Given the description of an element on the screen output the (x, y) to click on. 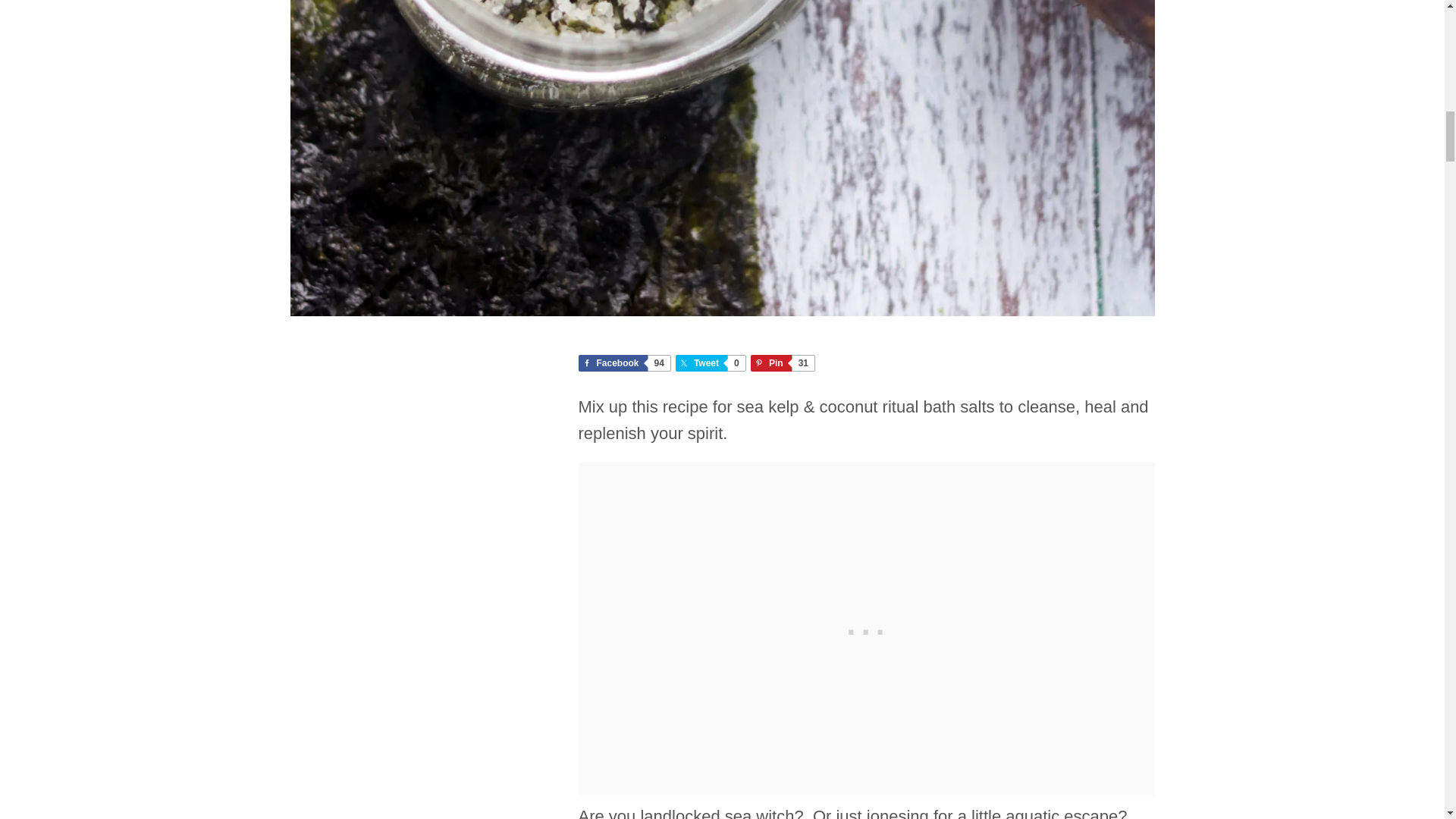
Share on Facebook (623, 362)
Share on Twitter (623, 362)
Share on Pinterest (709, 362)
